Given the description of an element on the screen output the (x, y) to click on. 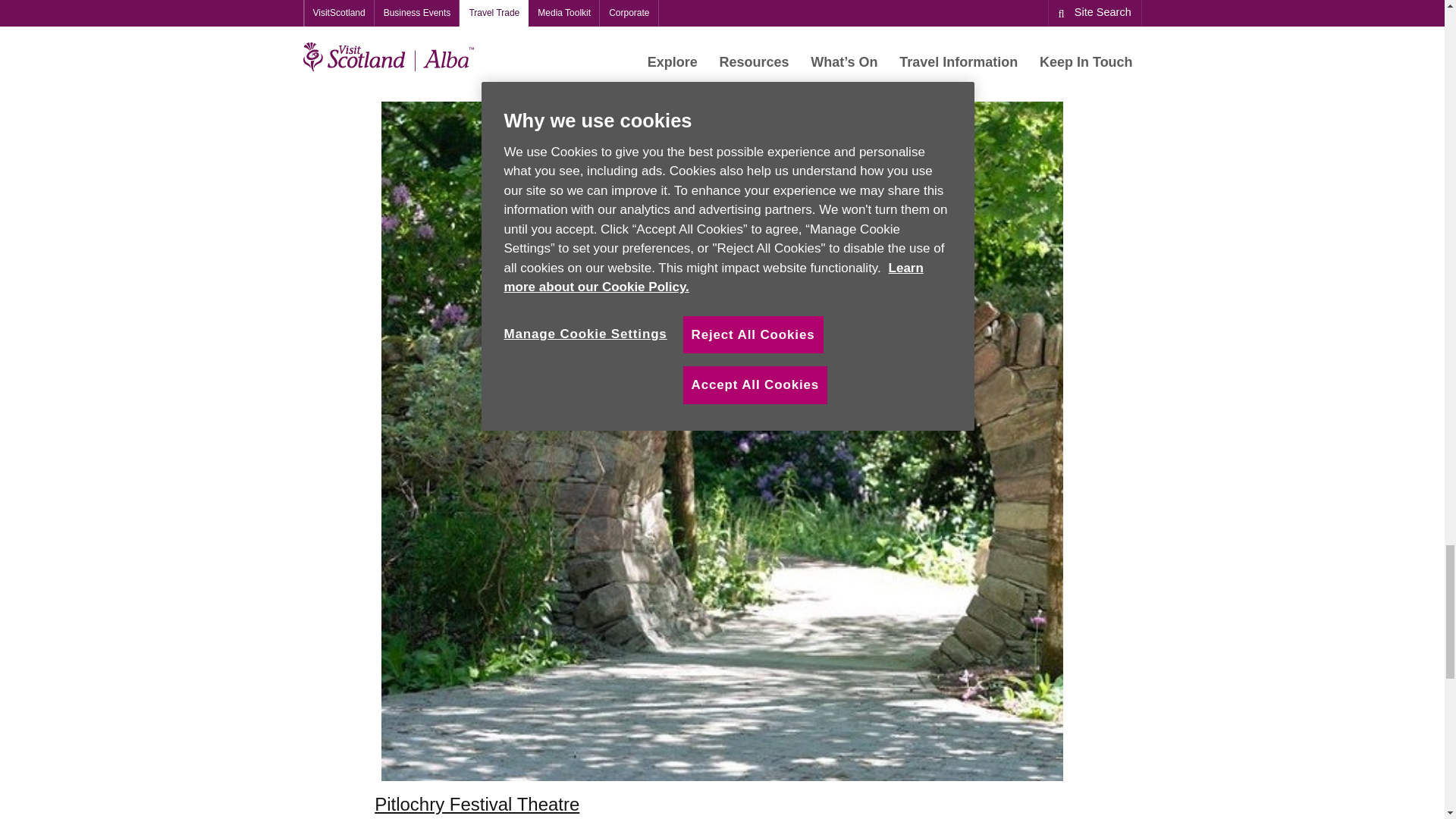
Ce4xtN9g (722, 42)
